Given the description of an element on the screen output the (x, y) to click on. 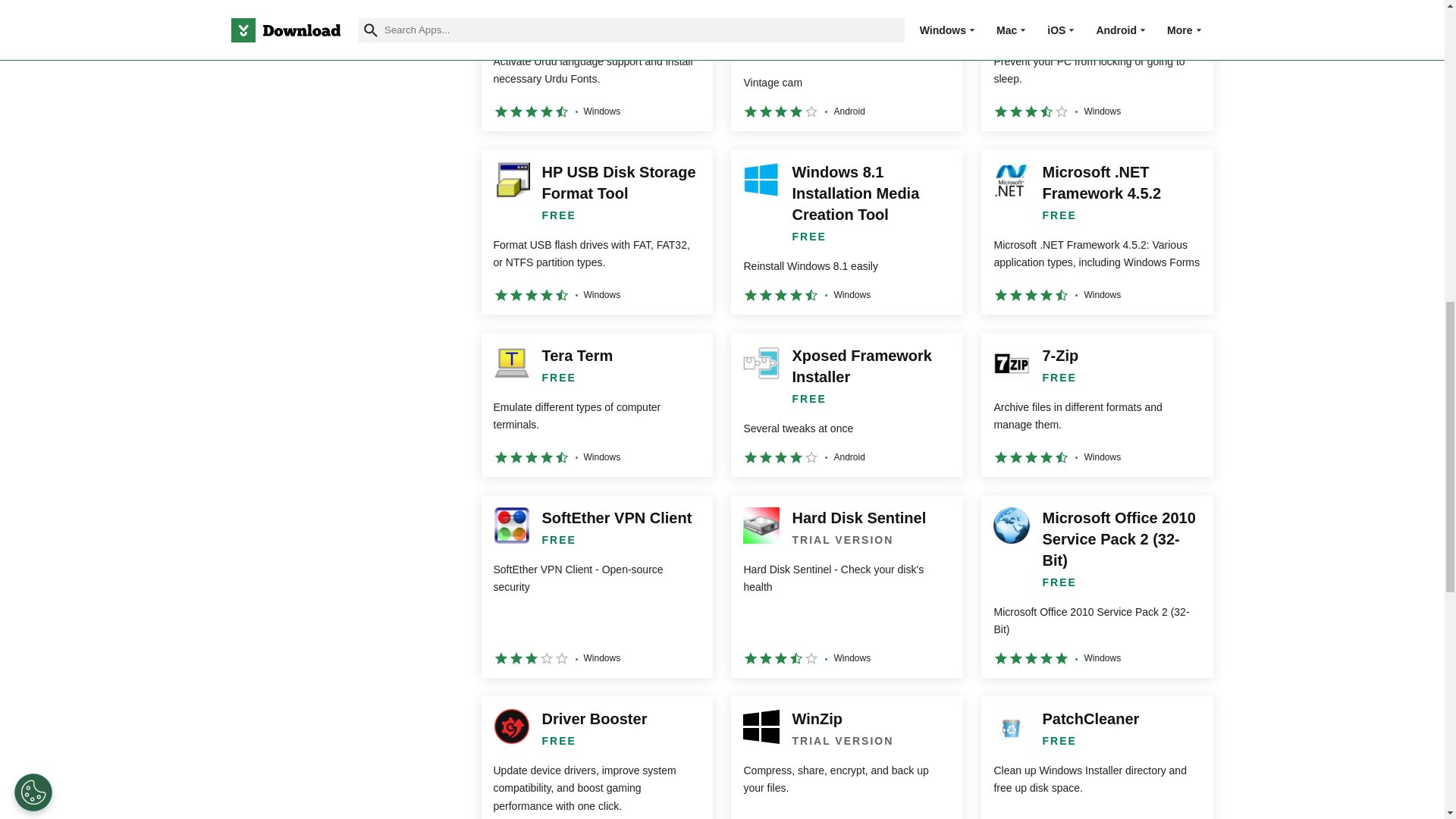
Pak Urdu Installer (596, 65)
Microsoft .NET Framework 4.5.2 (1096, 231)
Tera Term (596, 404)
Caffeine (1096, 65)
HP USB Disk Storage Format Tool (596, 231)
Dazz Cam - Vintage Camera (846, 65)
SoftEther VPN Client (596, 586)
Xposed Framework Installer (846, 404)
Hard Disk Sentinel (846, 586)
Windows 8.1 Installation Media Creation Tool (846, 231)
7-Zip (1096, 404)
